Given the description of an element on the screen output the (x, y) to click on. 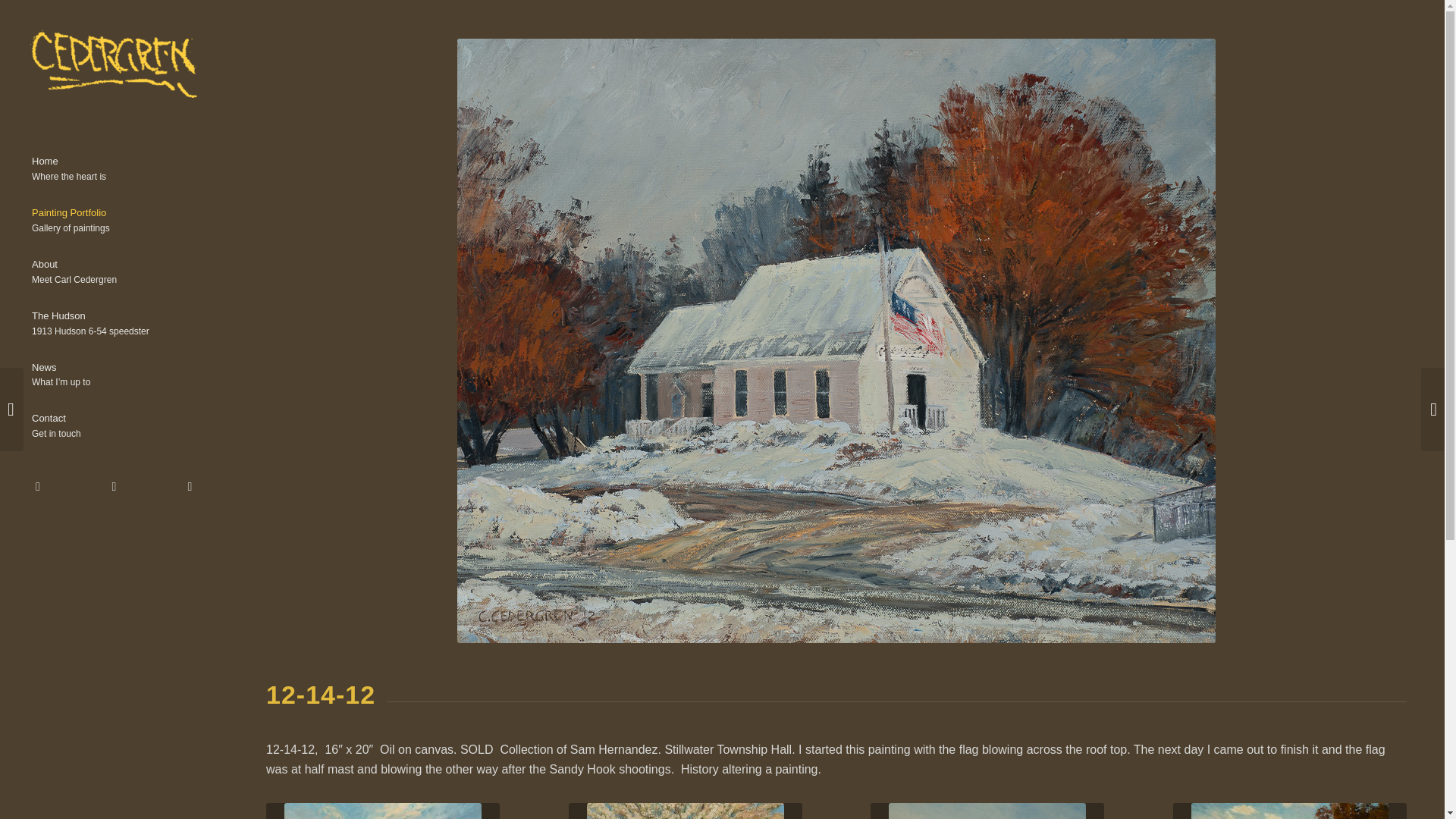
Dog Wood Tree (685, 811)
12-14-12-16x20 (113, 169)
Fall Across Staples Lake (113, 426)
Fall Below the Corn Crib (986, 811)
Pinterest (382, 811)
LinkedIn (113, 324)
